Given the description of an element on the screen output the (x, y) to click on. 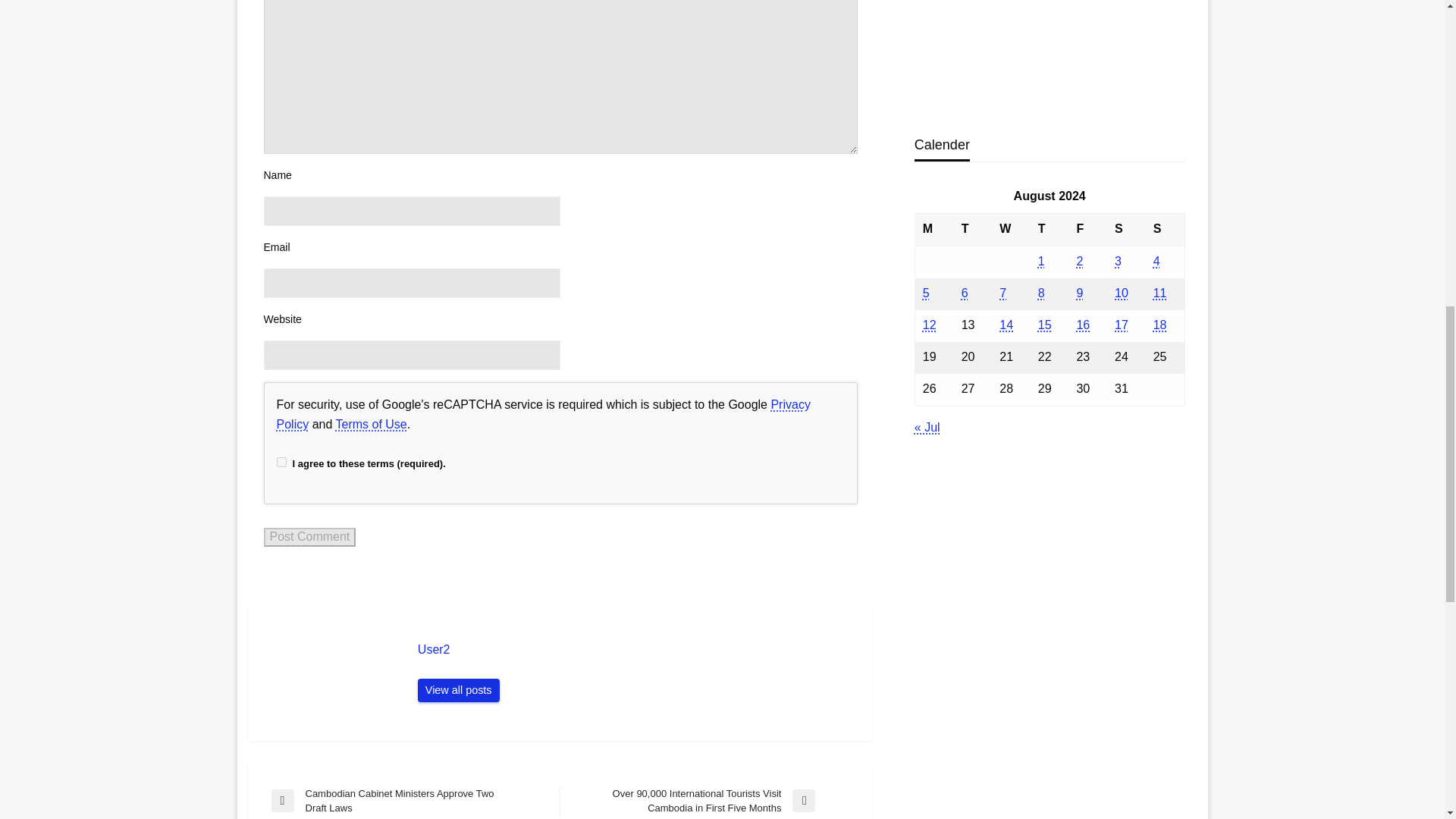
Post Comment (309, 536)
User2 (637, 649)
View all posts (458, 690)
Friday (1087, 228)
on (280, 461)
Thursday (1049, 228)
Tuesday (972, 228)
Terms of Use (370, 423)
Post Comment (309, 536)
Wednesday (1010, 228)
